Given the description of an element on the screen output the (x, y) to click on. 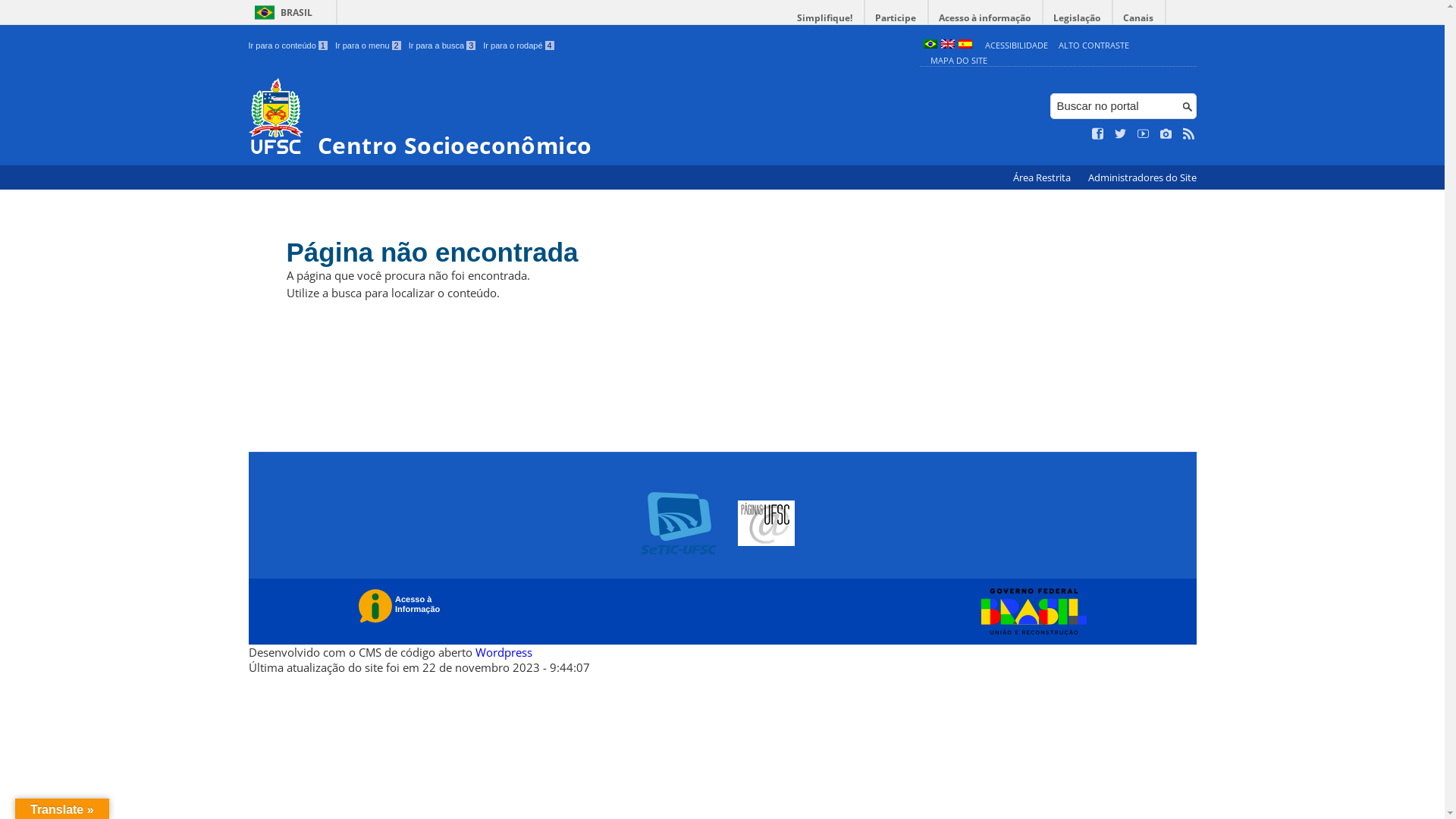
Simplifique! Element type: text (825, 18)
Siga no Twitter Element type: hover (1120, 134)
Curta no Facebook Element type: hover (1098, 134)
Canais Element type: text (1138, 18)
MAPA DO SITE Element type: text (957, 59)
ALTO CONTRASTE Element type: text (1093, 44)
Governo Federal Element type: hover (1029, 611)
English (en) Element type: hover (946, 44)
Ir para a busca 3 Element type: text (442, 45)
ACESSIBILIDADE Element type: text (1016, 44)
Ir para o menu 2 Element type: text (368, 45)
Veja no Instagram Element type: hover (1166, 134)
Wordpress Element type: text (502, 651)
Administradores do Site Element type: text (1141, 177)
Participe Element type: text (895, 18)
BRASIL Element type: text (280, 12)
